Given the description of an element on the screen output the (x, y) to click on. 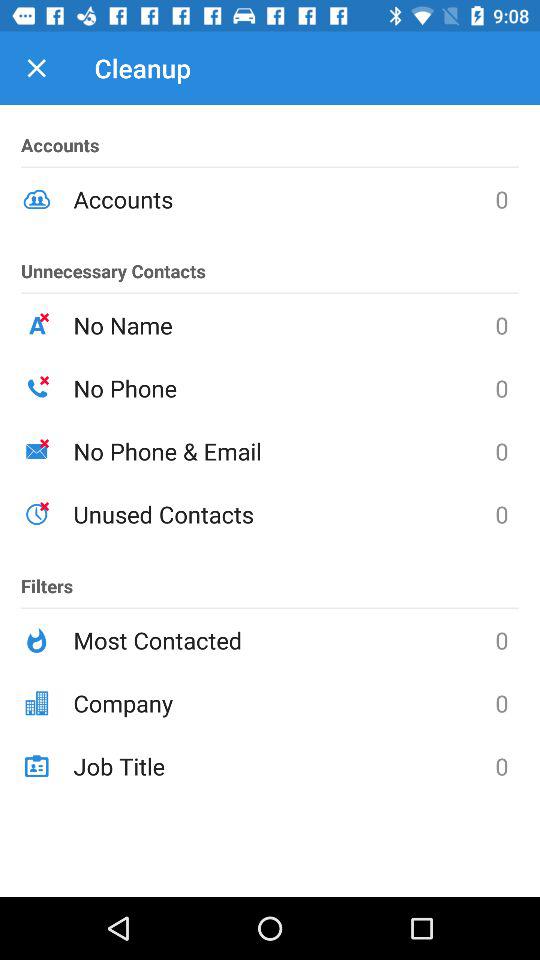
select no name (284, 325)
